Given the description of an element on the screen output the (x, y) to click on. 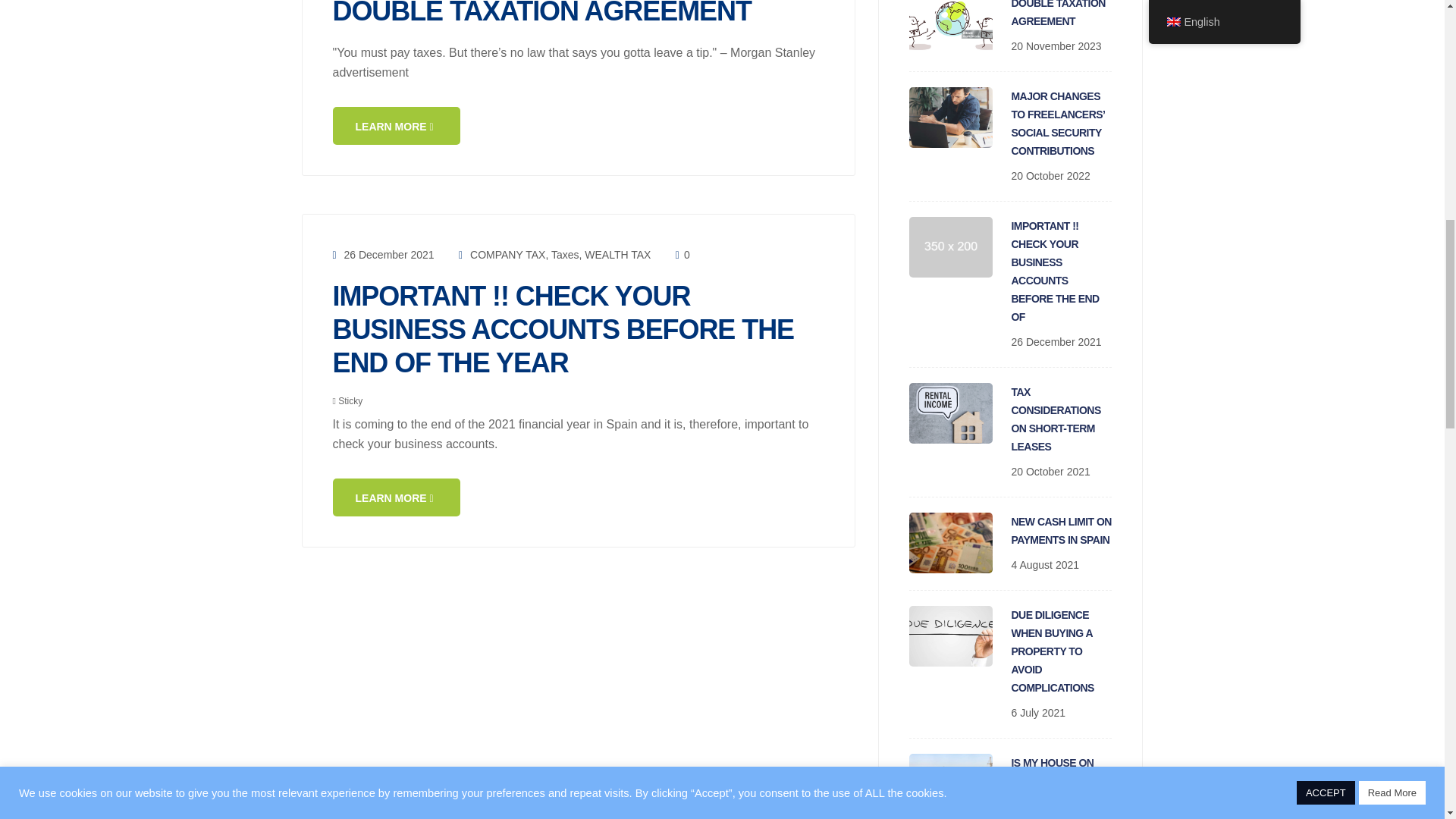
COMPANY TAX (507, 254)
NEW CASH LIMIT ON PAYMENTS IN SPAIN (1061, 530)
TAX CONSIDERATIONS ON SHORT-TERM LEASES (1055, 418)
Taxes (565, 254)
WEALTH TAX (617, 254)
LEARN MORE (395, 125)
DUE DILIGENCE WHEN BUYING A PROPERTY TO AVOID COMPLICATIONS (1052, 651)
DOUBLE TAXATION AGREEMENT (1058, 13)
DOUBLE TAXATION AGREEMENT (541, 13)
LEARN MORE (395, 497)
